Given the description of an element on the screen output the (x, y) to click on. 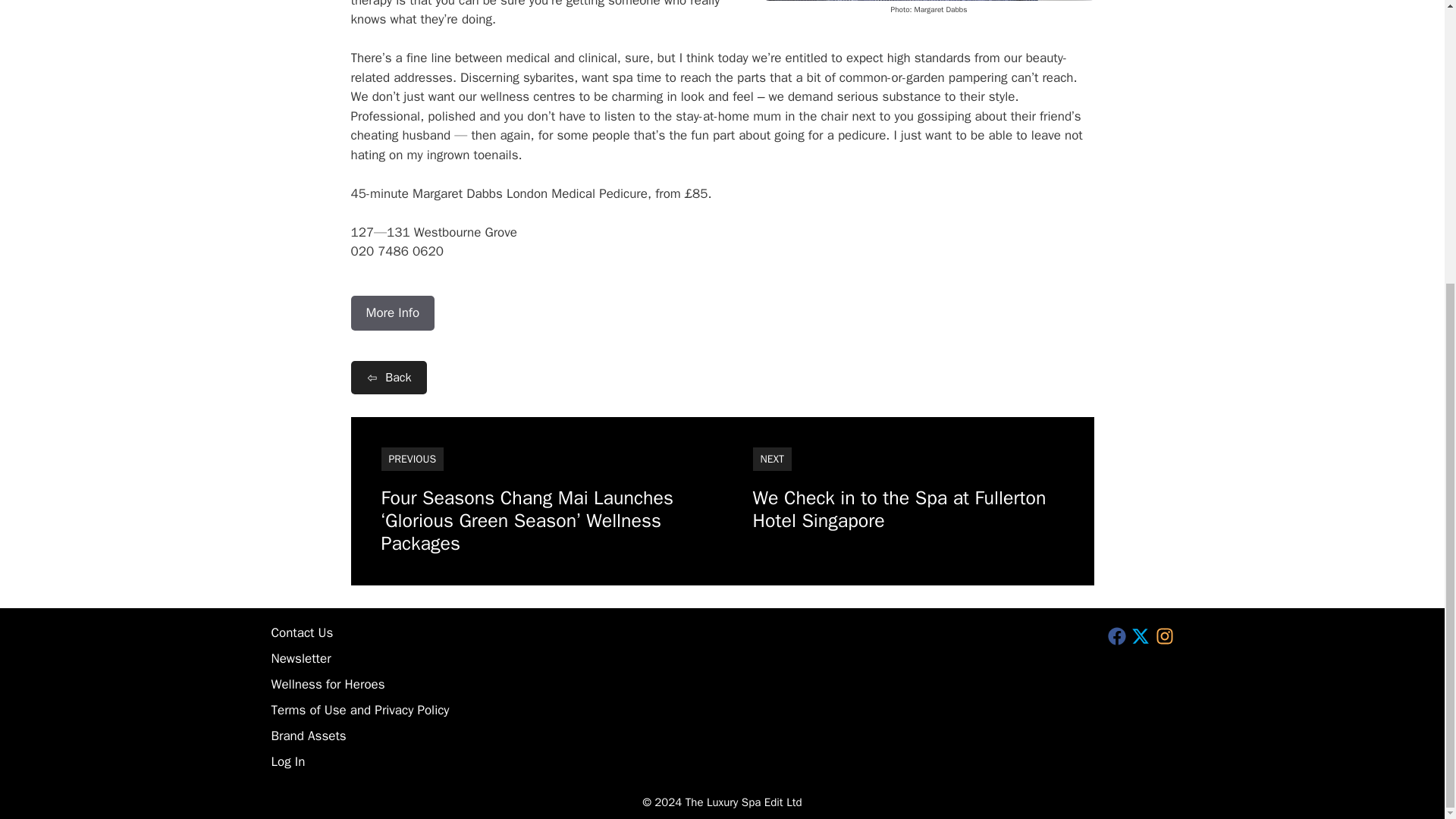
Terms of Use and Privacy Policy (359, 709)
Wellness for Heroes (327, 684)
Newsletter (300, 658)
Brand Assets (308, 735)
Contact Us (301, 632)
Log In (287, 761)
More Info (391, 312)
We Check in to the Spa at Fullerton Hotel Singapore (898, 509)
